Given the description of an element on the screen output the (x, y) to click on. 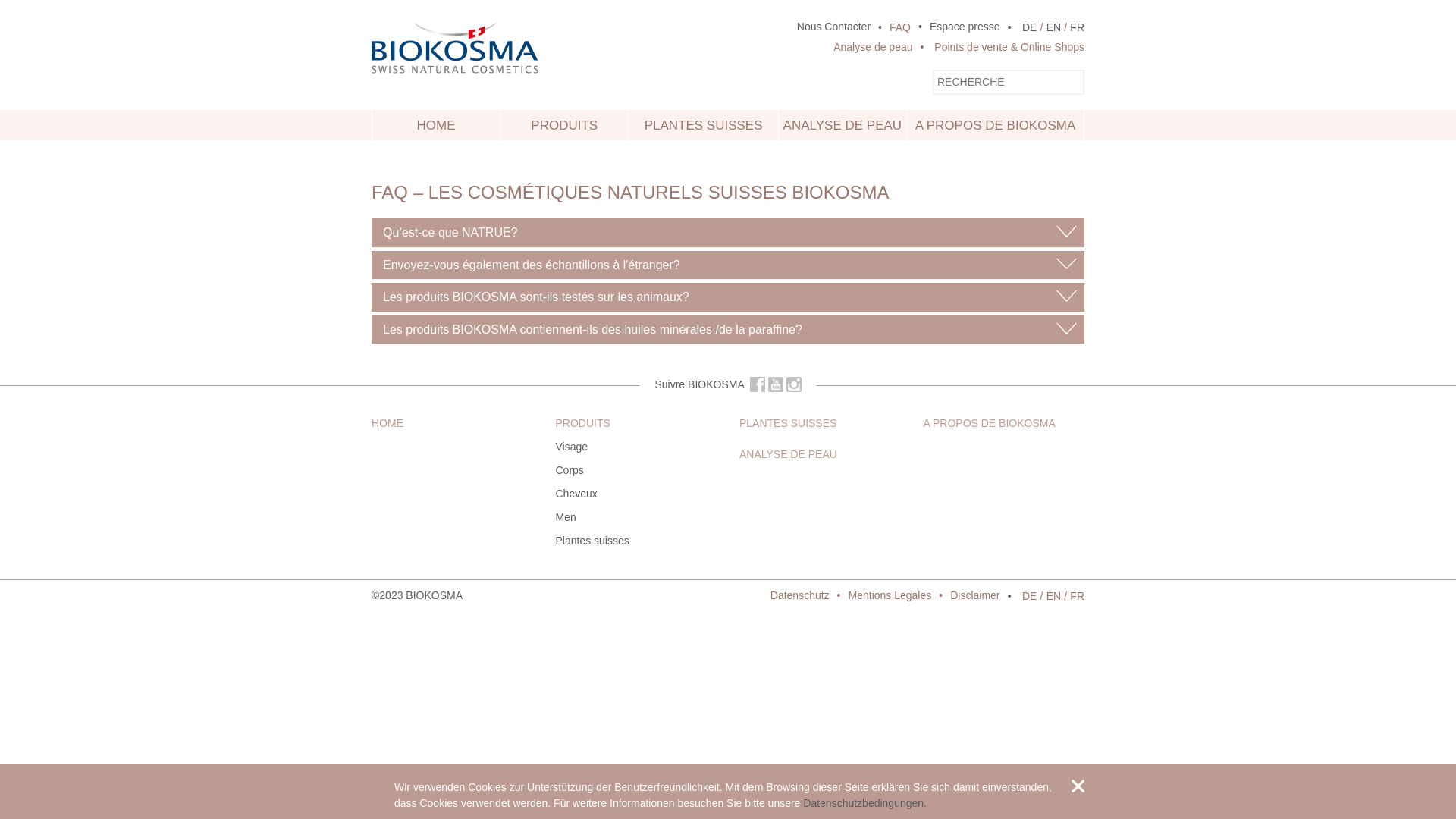
Datenschutzbedingungen. Element type: text (864, 803)
  Element type: text (463, 595)
  Element type: text (1077, 785)
FR Element type: text (1077, 596)
  Element type: text (793, 384)
IMPRESSUM - Swiss Natural Cosmetics Element type: hover (463, 595)
Plantes suisses Element type: text (591, 540)
FR Element type: text (1077, 27)
PRODUITS Element type: text (582, 423)
DE Element type: text (1029, 596)
ANALYSE DE PEAU Element type: text (842, 124)
Espace presse Element type: text (955, 26)
Analyse de peau Element type: text (872, 46)
Nous Contacter Element type: text (833, 26)
ANALYSE DE PEAU Element type: text (788, 454)
  Element type: text (757, 384)
HOME Element type: text (435, 124)
YouTube Element type: hover (775, 384)
A PROPOS DE BIOKOSMA Element type: text (994, 124)
PRODUITS Element type: text (563, 124)
PLANTES SUISSES Element type: text (787, 423)
Mentions Legales Element type: text (880, 595)
Points de vente & Online Shops Element type: text (998, 46)
EN Element type: text (1053, 596)
A PROPOS DE BIOKOSMA Element type: text (989, 423)
Instagram Element type: hover (793, 384)
PLANTES SUISSES Element type: text (702, 124)
HOME Element type: text (387, 423)
Corps Element type: text (569, 470)
Cheveux Element type: text (575, 493)
Visage Element type: text (571, 446)
Facebook Element type: hover (757, 384)
Men Element type: text (565, 517)
EN Element type: text (1053, 27)
DE Element type: text (1029, 27)
Datenschutz Element type: text (799, 595)
  Element type: text (775, 384)
Disclaimer Element type: text (965, 595)
BIOKOSMA Element type: text (433, 595)
